Given the description of an element on the screen output the (x, y) to click on. 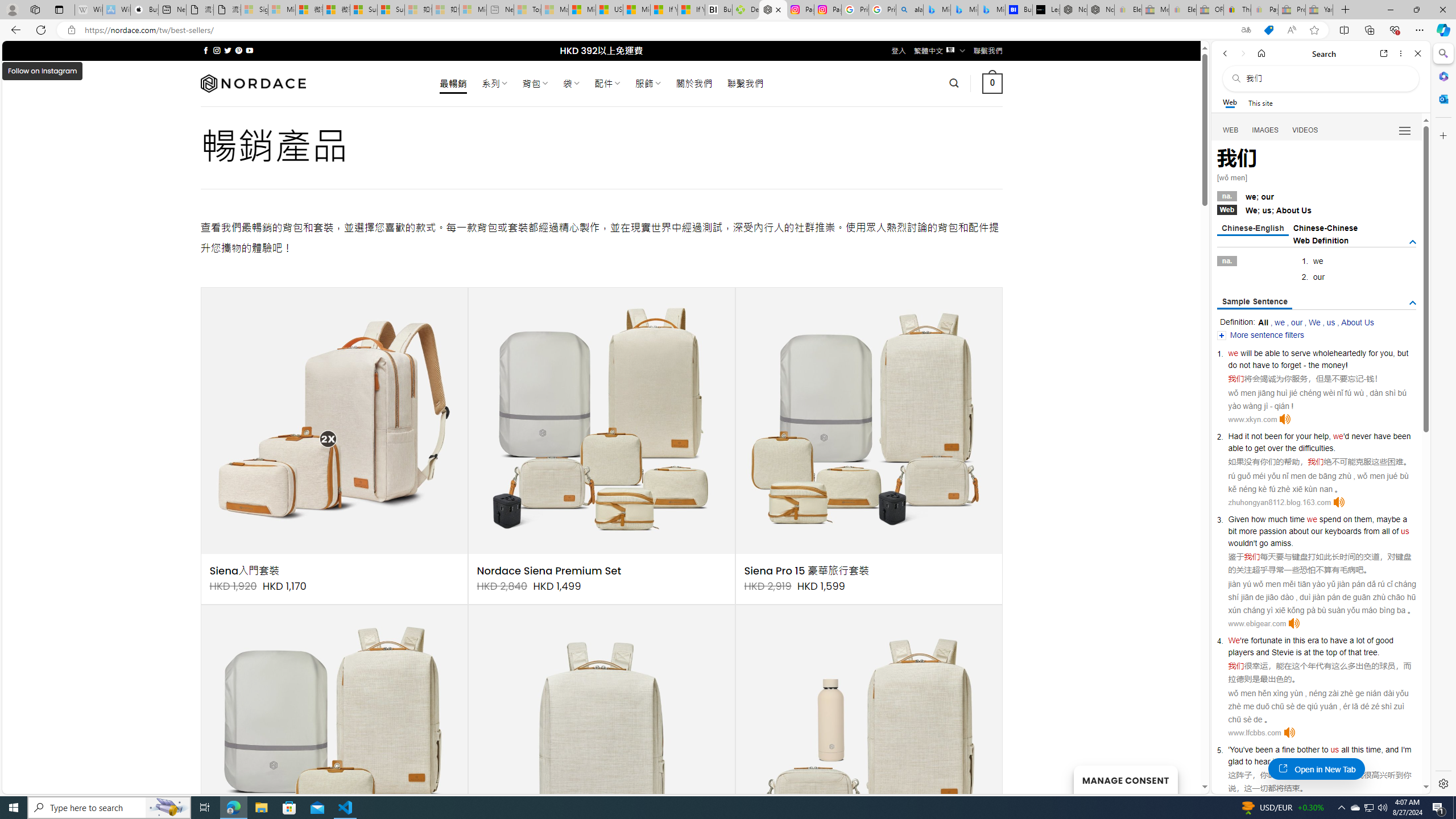
us (1334, 749)
difficulties (1315, 447)
Top Stories - MSN - Sleeping (527, 9)
the (1290, 447)
I (1401, 749)
